Given the description of an element on the screen output the (x, y) to click on. 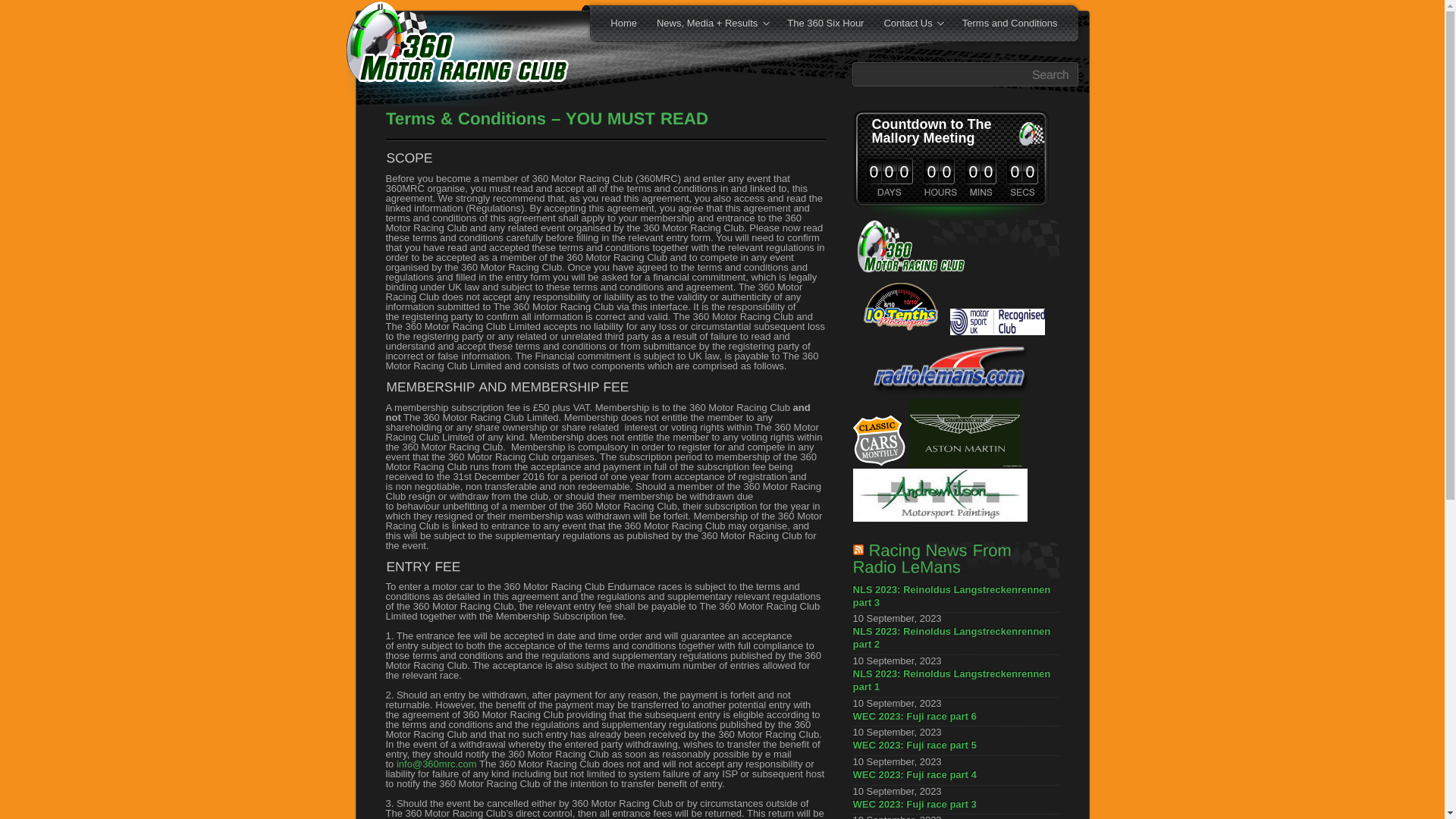
NLS 2023: Reinoldus Langstreckenrennen part 3 Element type: text (955, 598)
WEC 2023: Fuji race part 4 Element type: text (955, 776)
WEC 2023: Fuji race part 3 Element type: text (955, 806)
NLS 2023: Reinoldus Langstreckenrennen part 2 Element type: text (955, 640)
Terms and Conditions Element type: text (1009, 23)
WEC 2023: Fuji race part 6 Element type: text (955, 717)
info@360mrc.com Element type: text (436, 763)
WEC 2023: Fuji race part 5 Element type: text (955, 747)
Home Element type: text (623, 23)
NLS 2023: Reinoldus Langstreckenrennen part 1 Element type: text (955, 682)
The 360 Six Hour Element type: text (825, 23)
